Given the description of an element on the screen output the (x, y) to click on. 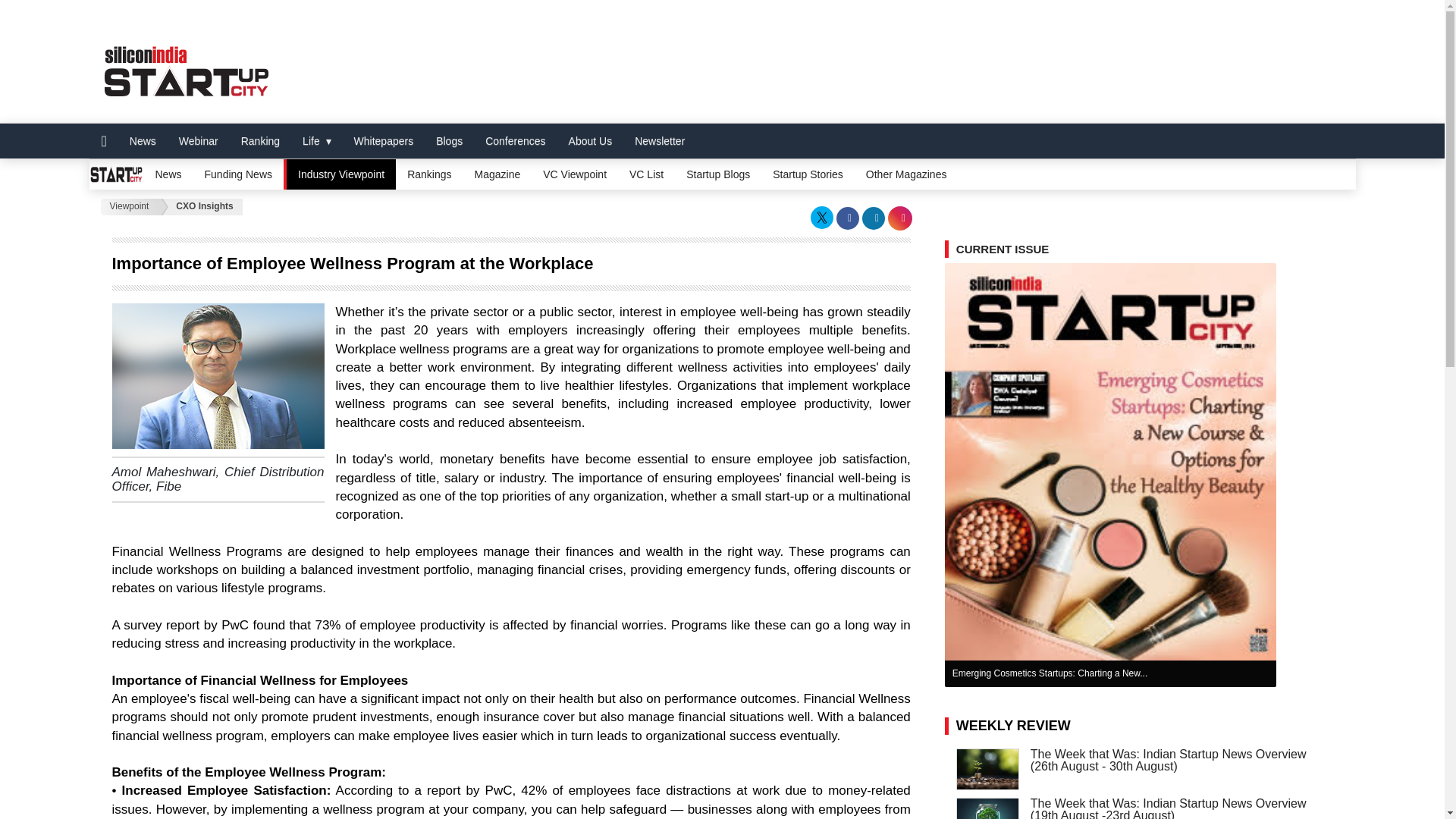
Conferences (515, 141)
Blogs (449, 141)
Webinar (198, 141)
News (142, 141)
Amol Maheshwari, Chief Distribution Officer, Fibe (218, 375)
Newsletter (659, 141)
Startup Stories (807, 173)
startupcity (185, 61)
Magazine (497, 173)
